Given the description of an element on the screen output the (x, y) to click on. 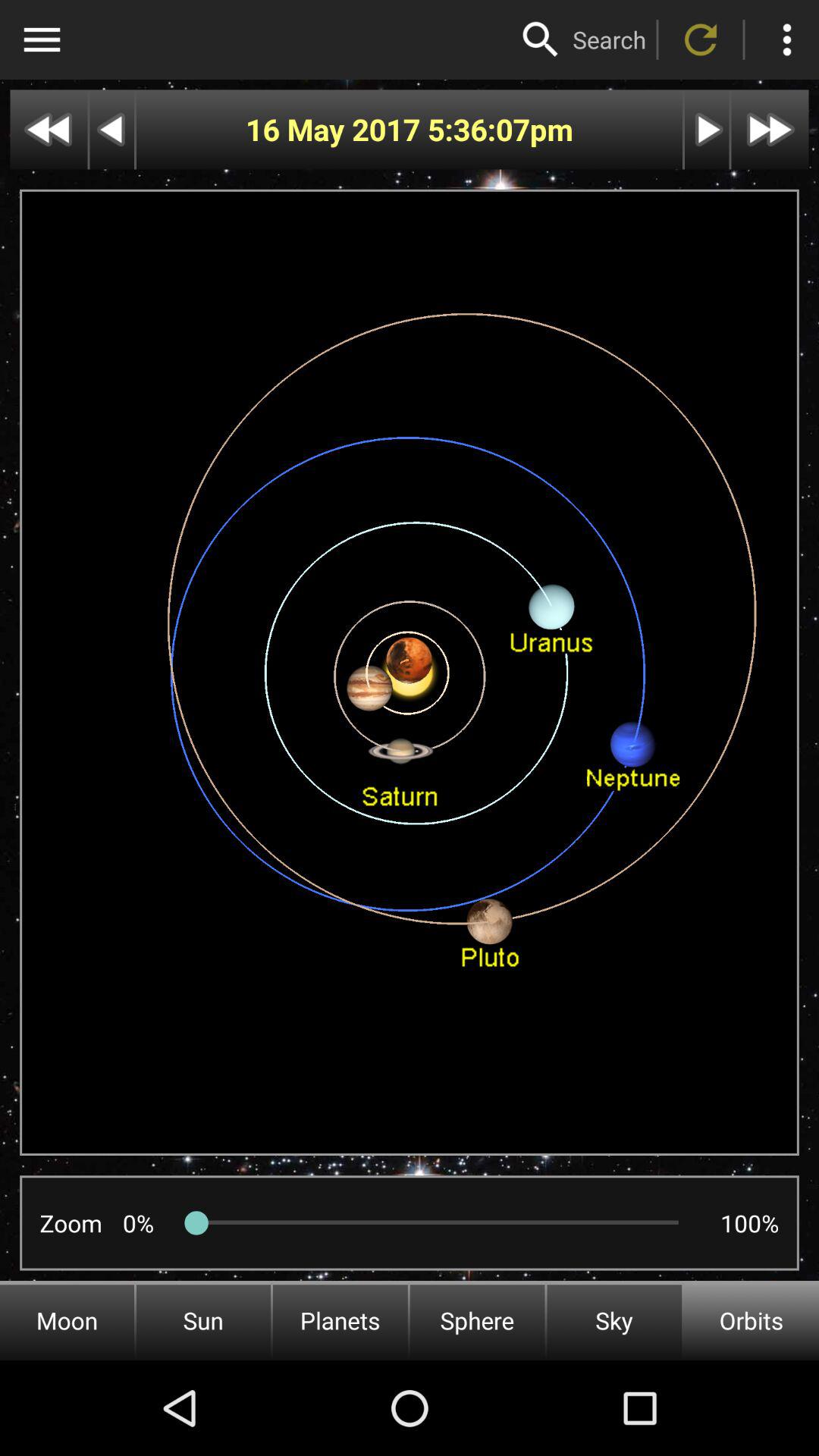
sidebar menu (41, 39)
